Given the description of an element on the screen output the (x, y) to click on. 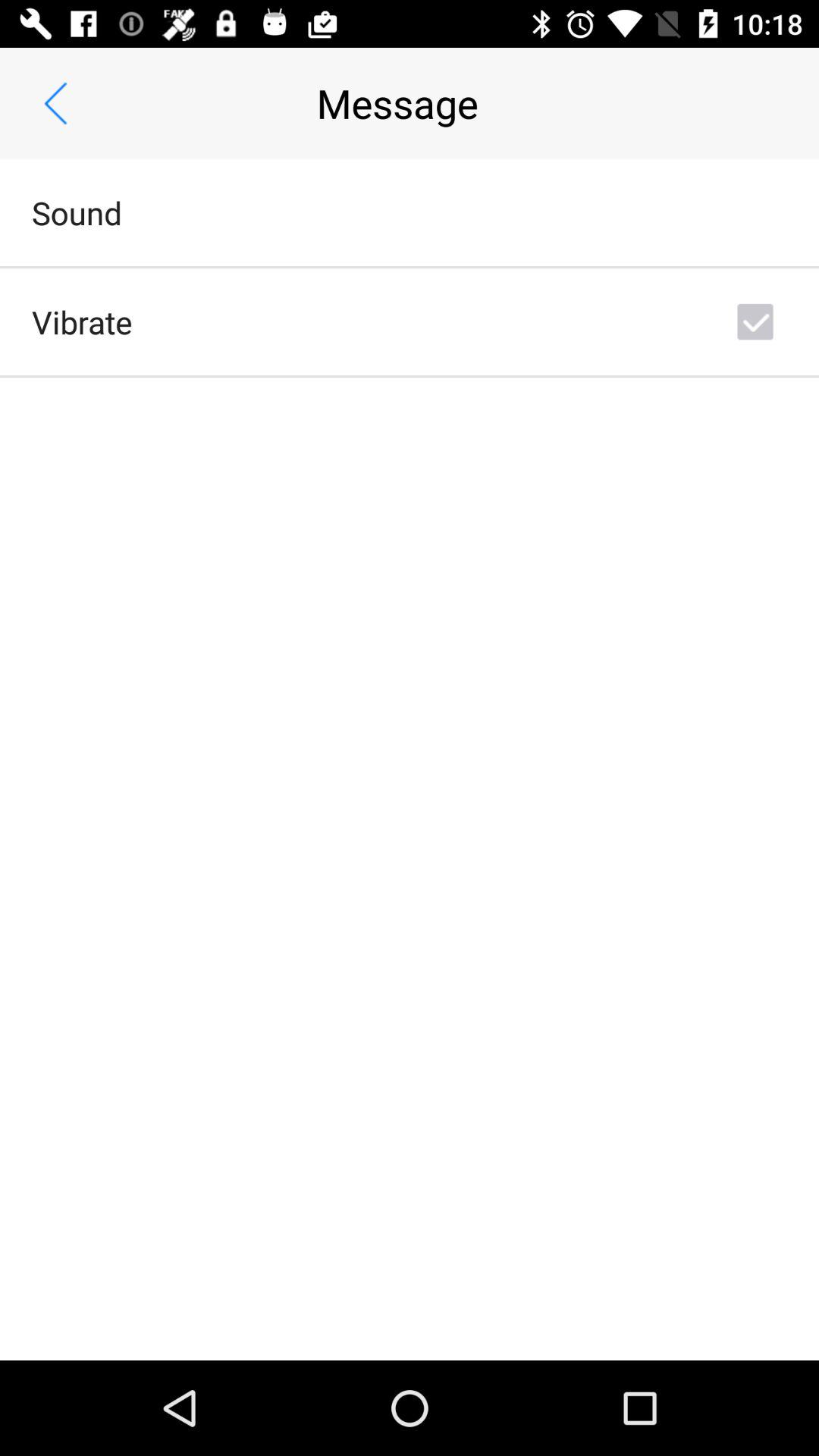
launch the icon at the top right corner (755, 321)
